Given the description of an element on the screen output the (x, y) to click on. 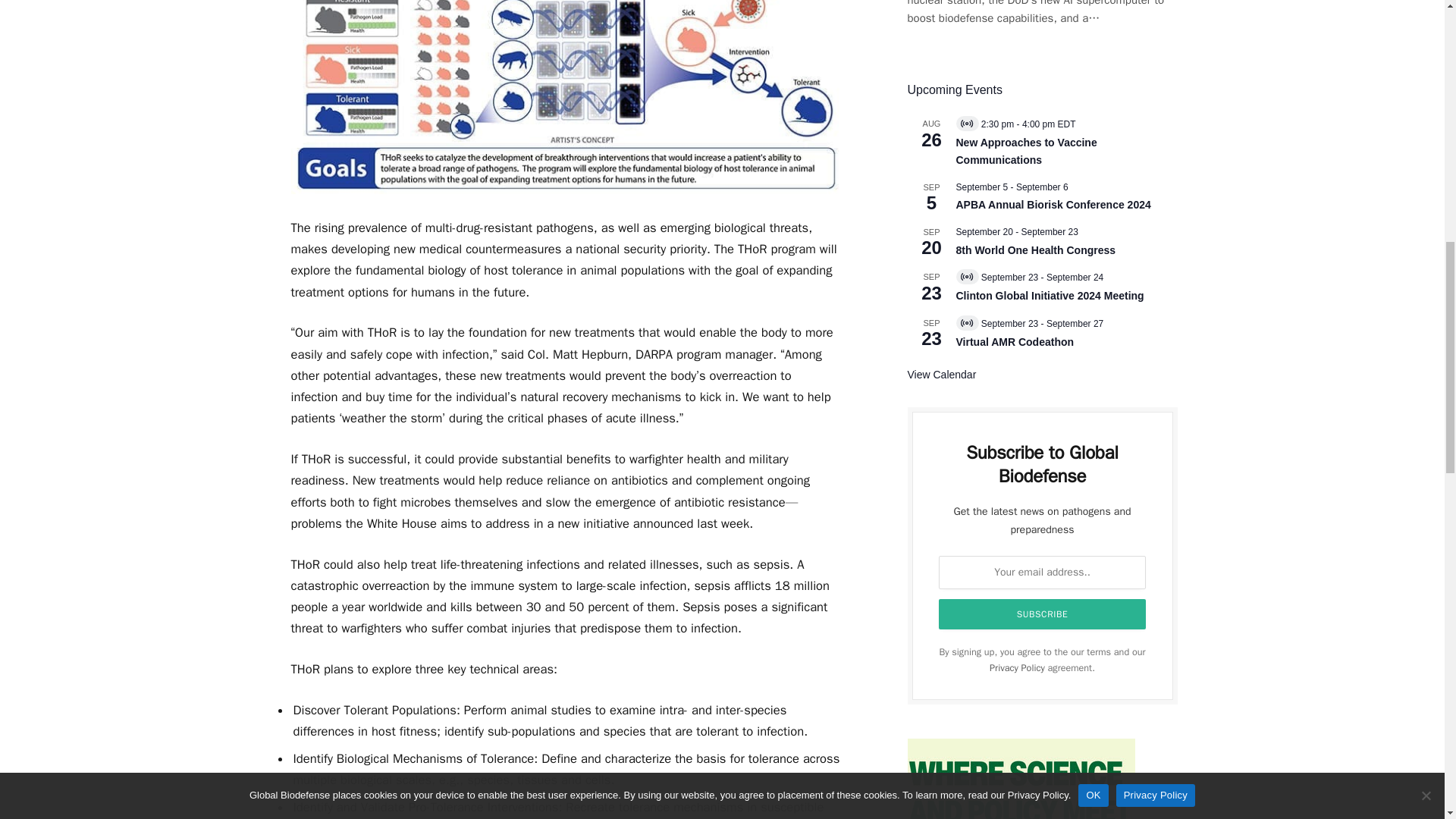
Virtual Event (966, 322)
Virtual Event (966, 276)
Virtual Event (966, 123)
Subscribe (1043, 613)
